Given the description of an element on the screen output the (x, y) to click on. 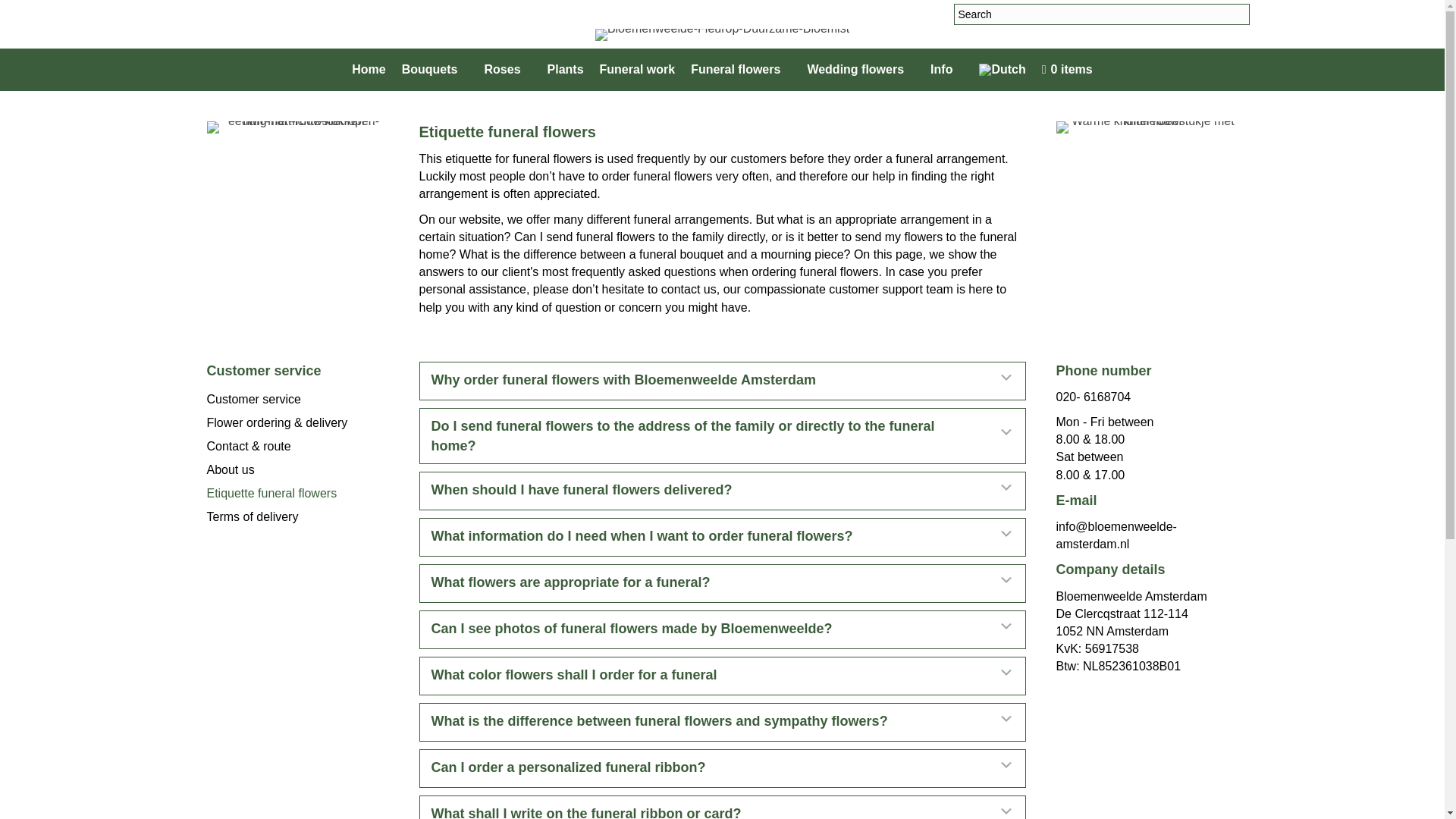
Warme-knuffel-rouwstuk-beertje (1146, 127)
Plants (565, 69)
Wedding flowers (860, 69)
Info (947, 69)
eeuwig-hart-rouwstuk-open-hart-met-lichte-kleuren (297, 127)
Start shopping (1066, 69)
Bloemenweelde-Fleurop-Duurzame-Bloemist (721, 34)
Roses (507, 69)
Home (368, 69)
0 items (1066, 69)
Funeral flowers (739, 69)
Bouquets (435, 69)
Funeral work (637, 69)
